Given the description of an element on the screen output the (x, y) to click on. 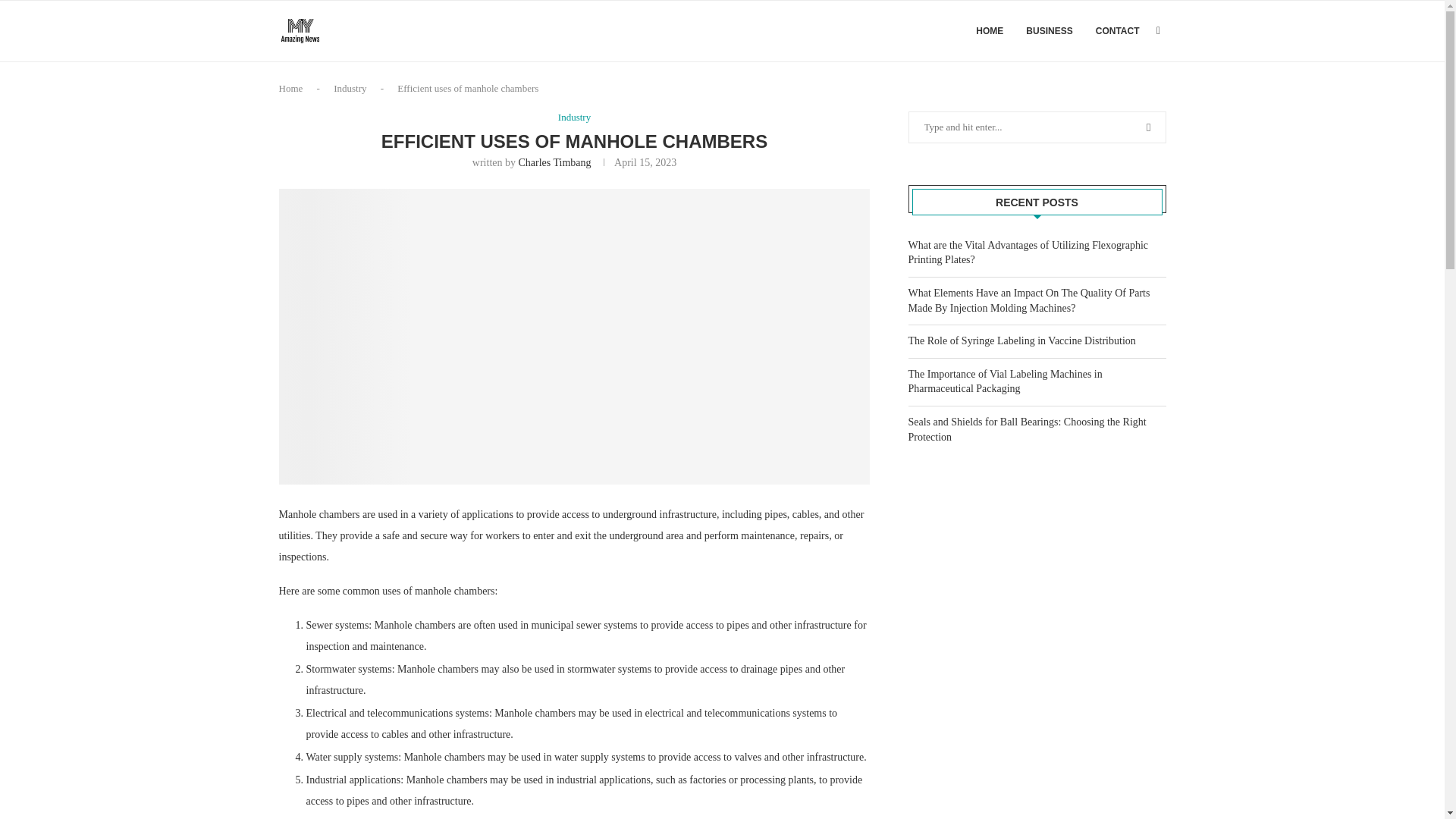
Charles Timbang (554, 162)
Industry (574, 117)
Industry (349, 88)
Home (290, 88)
